Given the description of an element on the screen output the (x, y) to click on. 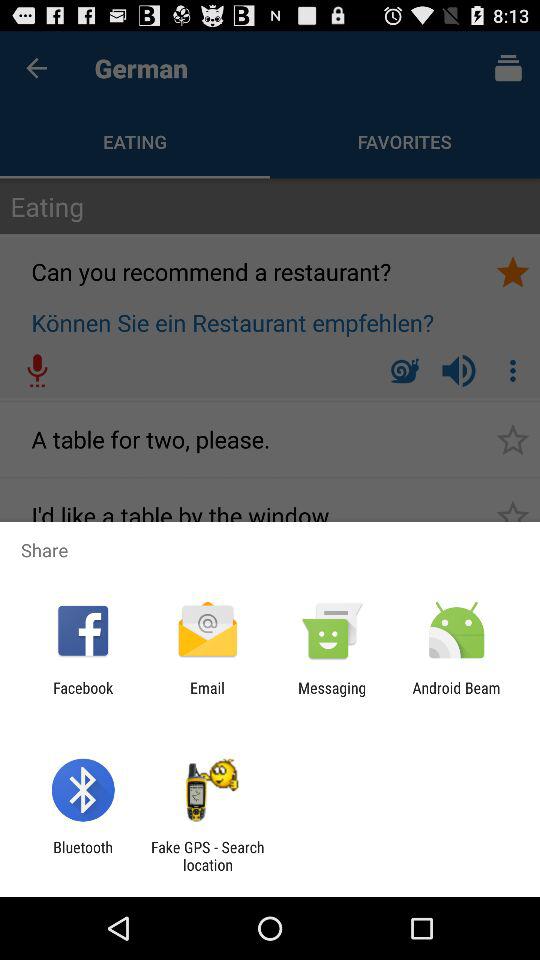
choose android beam app (456, 696)
